Given the description of an element on the screen output the (x, y) to click on. 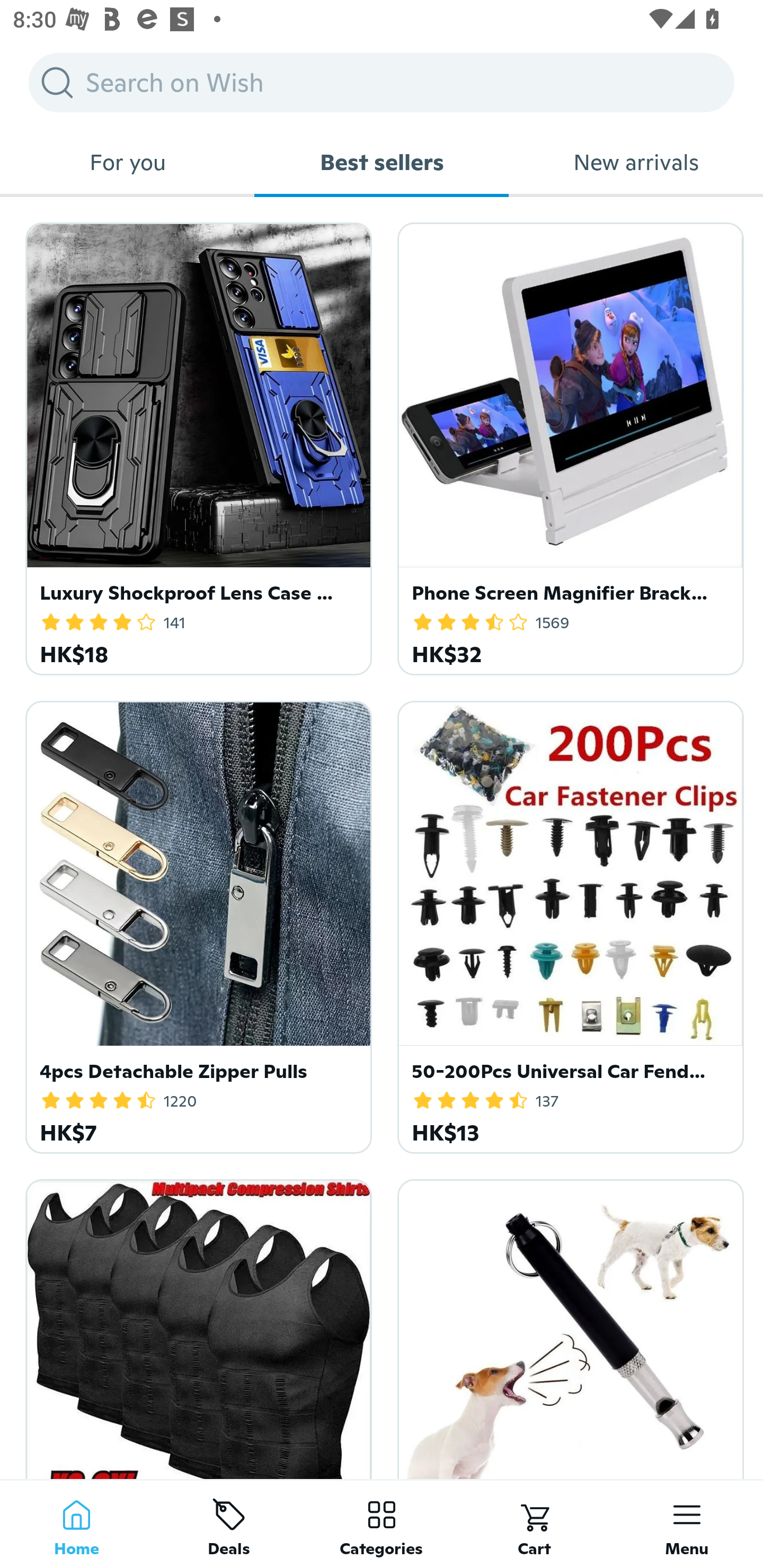
Search on Wish (381, 82)
For you (127, 161)
Best sellers (381, 161)
New arrivals (635, 161)
Home (76, 1523)
Deals (228, 1523)
Categories (381, 1523)
Cart (533, 1523)
Menu (686, 1523)
